Given the description of an element on the screen output the (x, y) to click on. 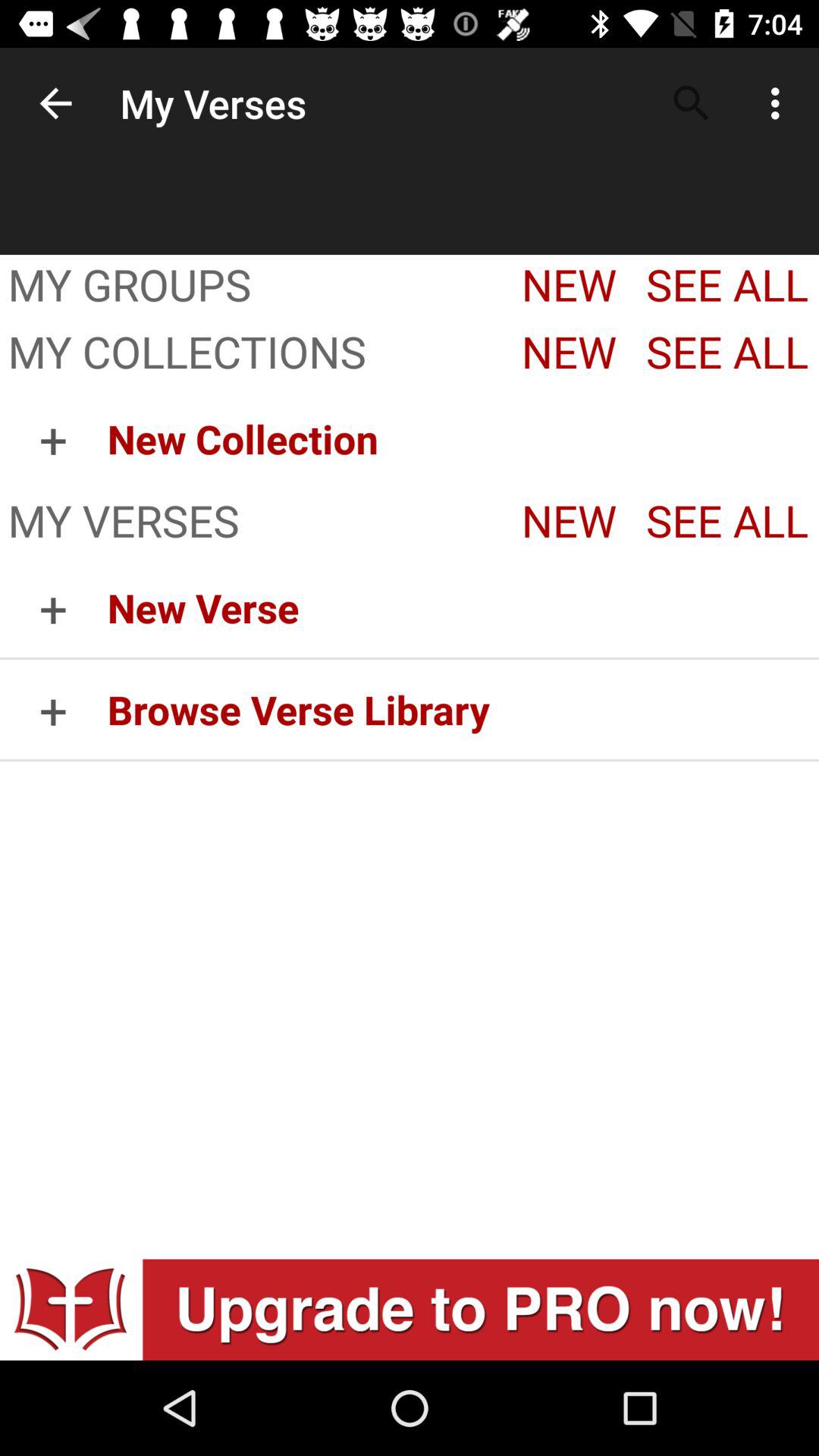
turn on the icon below the my collections icon (463, 438)
